Given the description of an element on the screen output the (x, y) to click on. 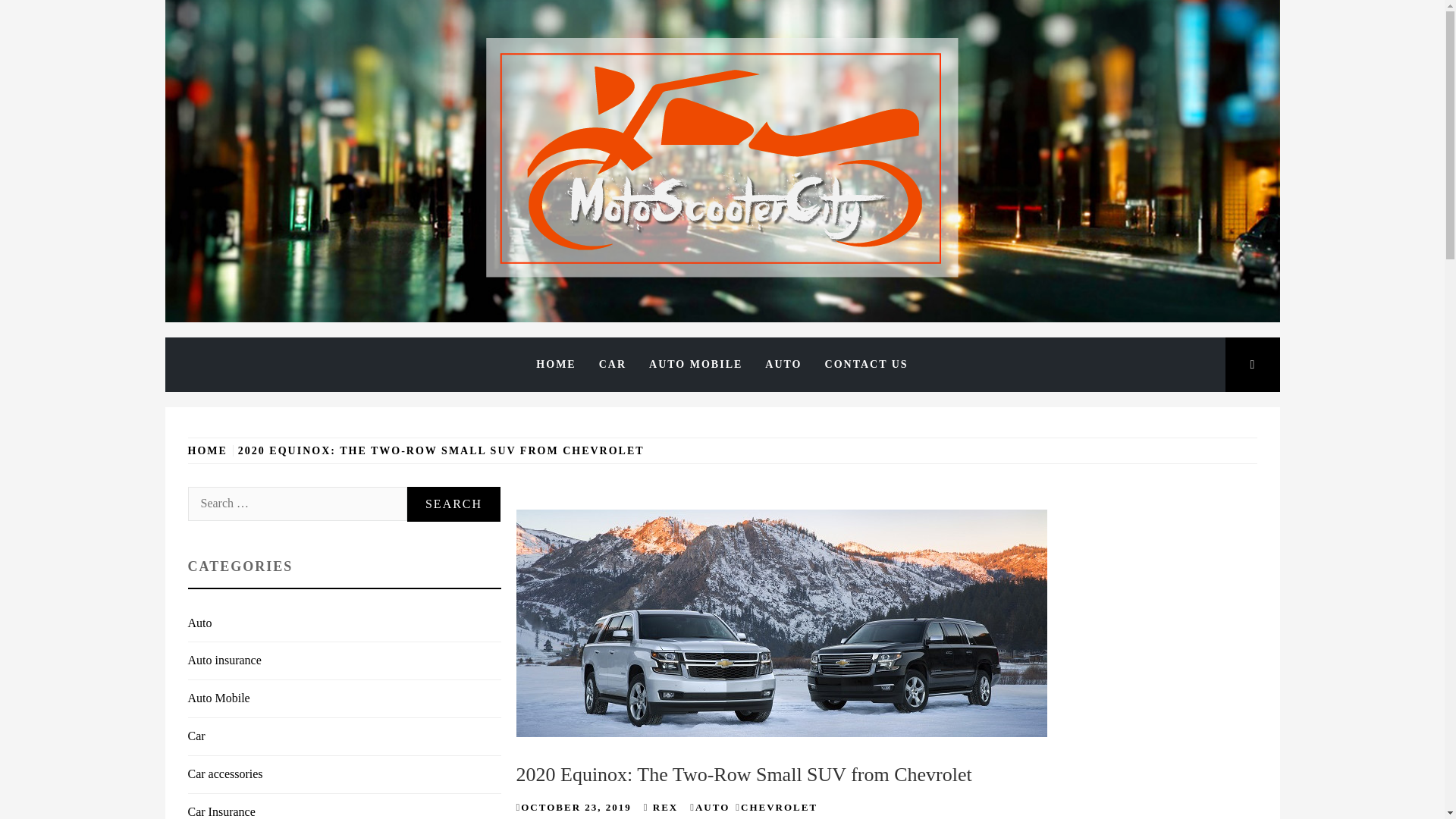
Search (453, 503)
CHEVROLET (778, 807)
AUTO (712, 807)
OCTOBER 23, 2019 (576, 807)
Car Insurance (221, 811)
HOME (555, 364)
CAR (612, 364)
HOME (209, 450)
2020 EQUINOX: THE TWO-ROW SMALL SUV FROM CHEVROLET (440, 450)
Search (453, 503)
Car accessories (225, 773)
Search (646, 37)
AUTO (783, 364)
Auto (199, 622)
